Given the description of an element on the screen output the (x, y) to click on. 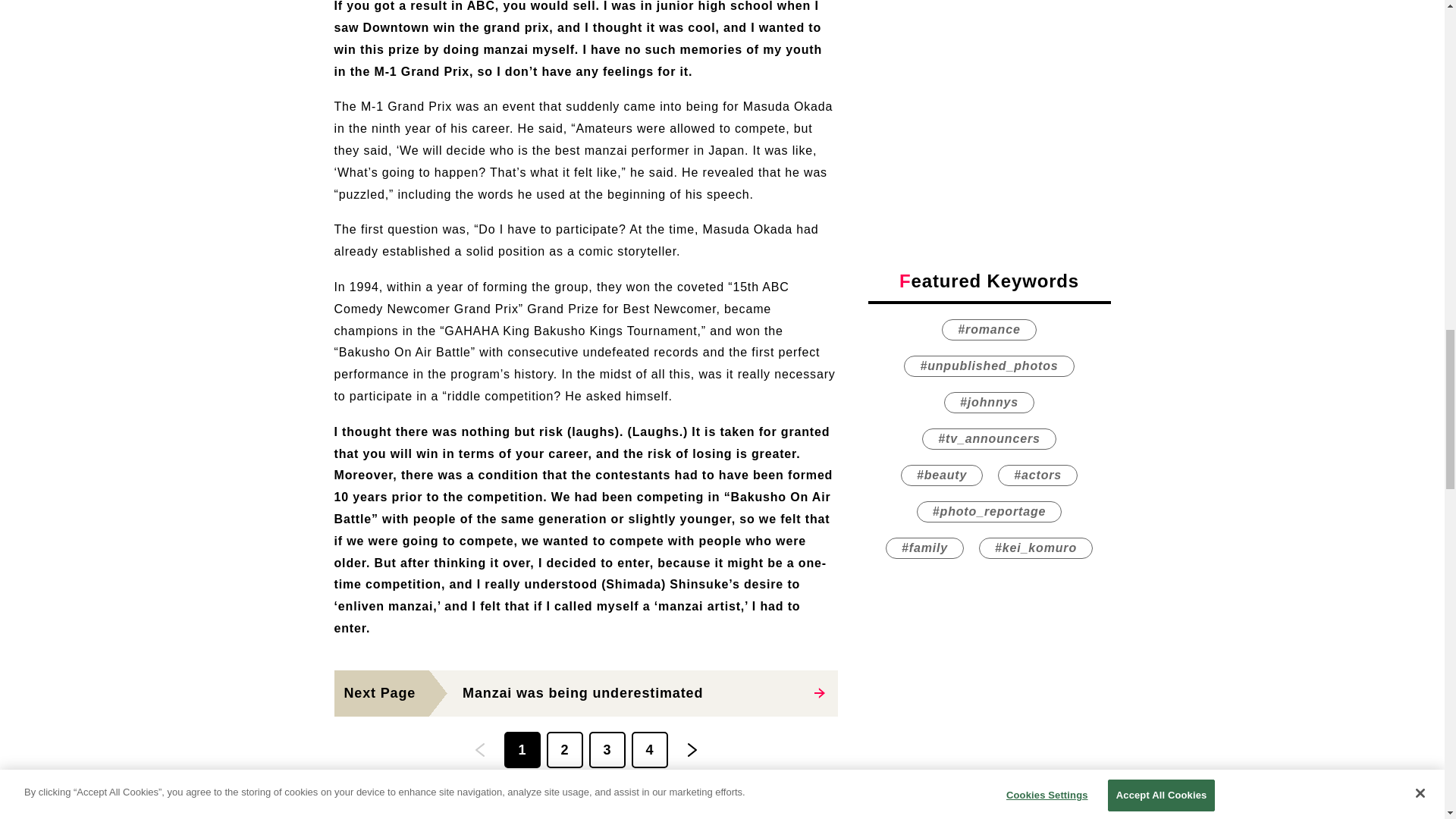
2 (564, 750)
4 (648, 750)
3 (585, 693)
